Given the description of an element on the screen output the (x, y) to click on. 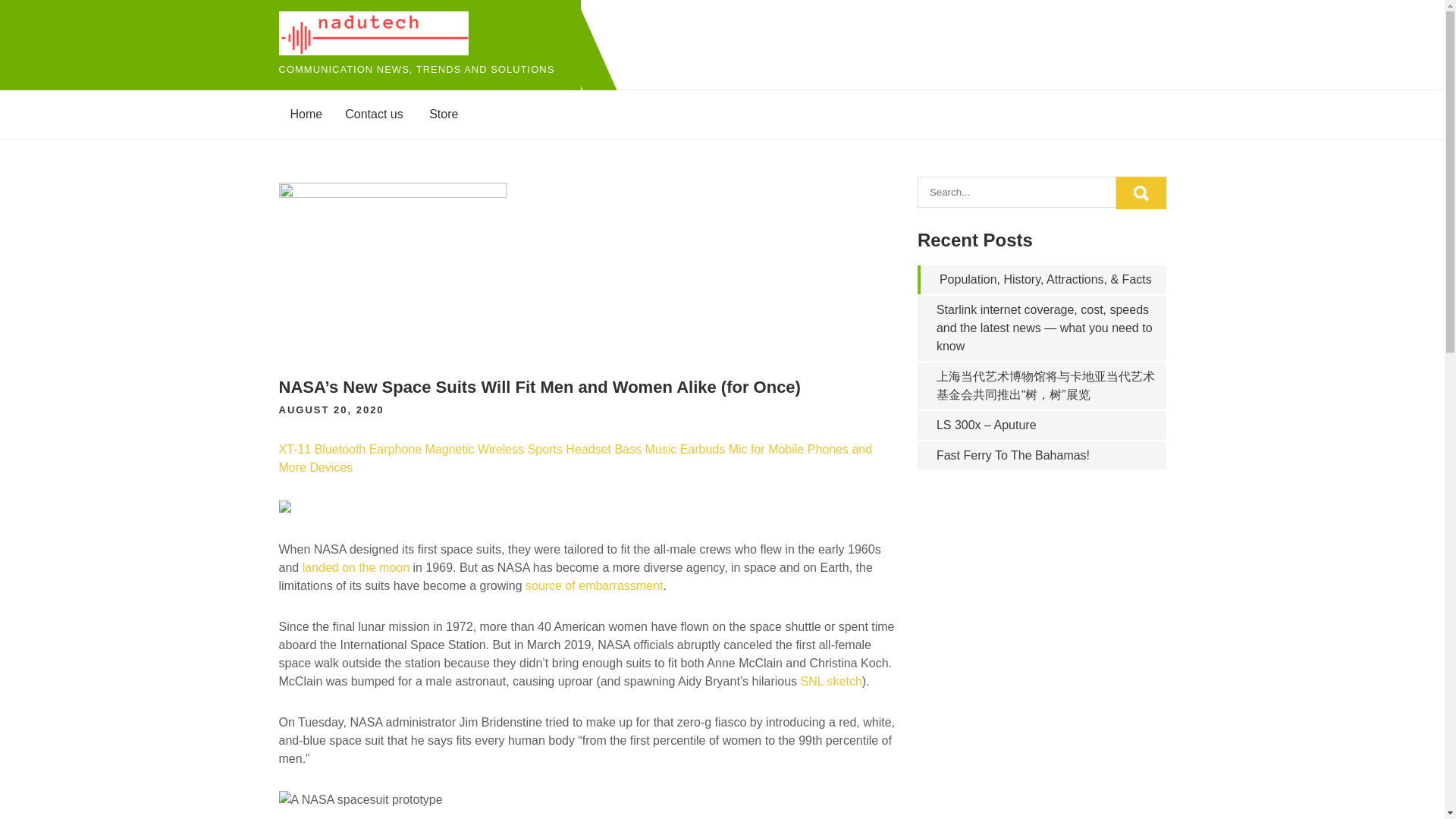
Contact us (373, 114)
Store (442, 114)
Fast Ferry To The Bahamas! (1012, 454)
Search (1141, 192)
Search (1141, 192)
Home (306, 114)
Search (1141, 192)
